Given the description of an element on the screen output the (x, y) to click on. 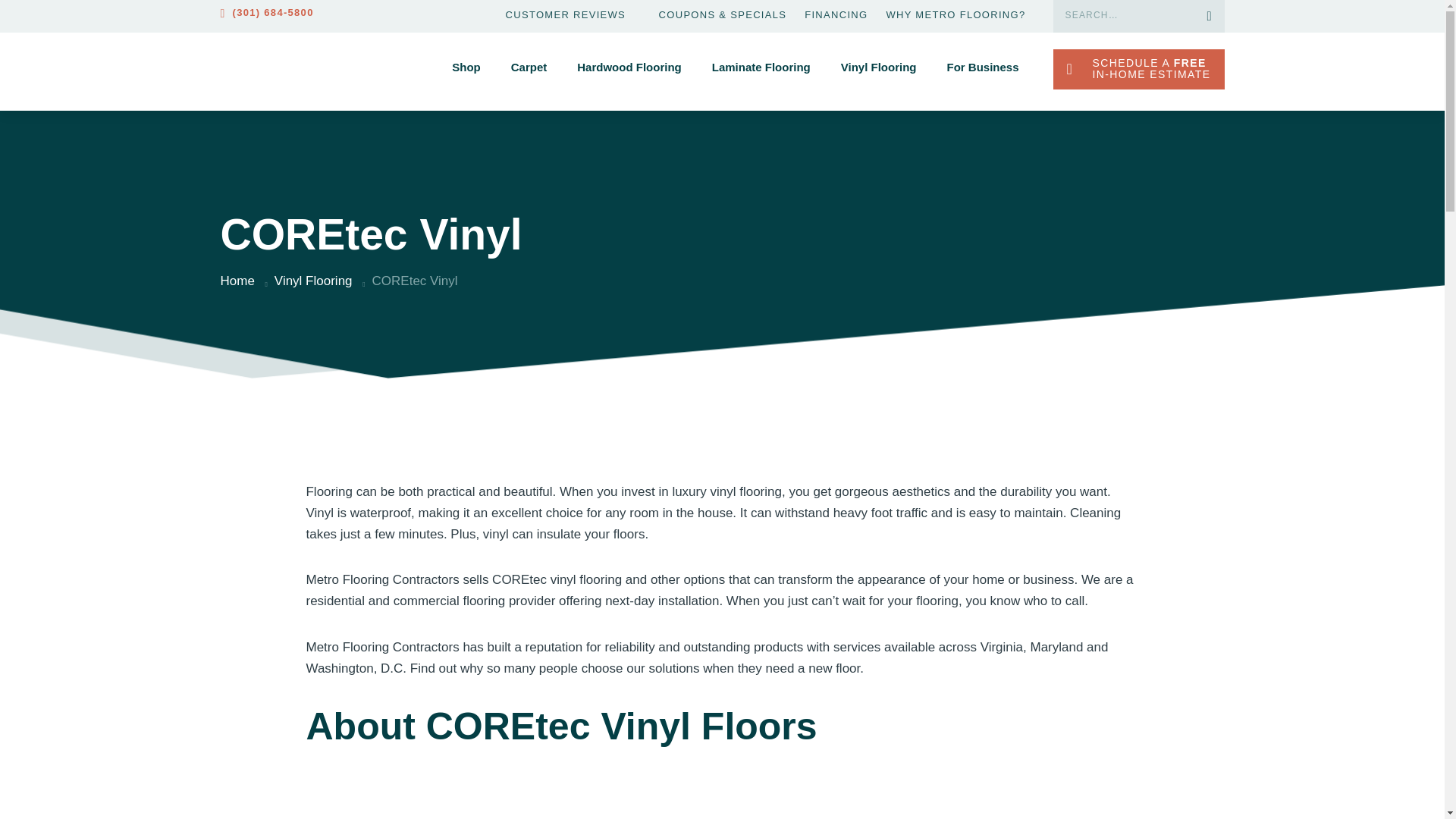
CUSTOMER REVIEWS (565, 14)
Laminate Flooring (760, 75)
SCHEDULE A FREE IN-HOME ESTIMATE (1138, 69)
For Business (981, 75)
FINANCING (836, 14)
WHY METRO FLOORING? (955, 14)
Carpet (529, 75)
Hardwood Flooring (628, 75)
Vinyl Flooring (879, 75)
